Given the description of an element on the screen output the (x, y) to click on. 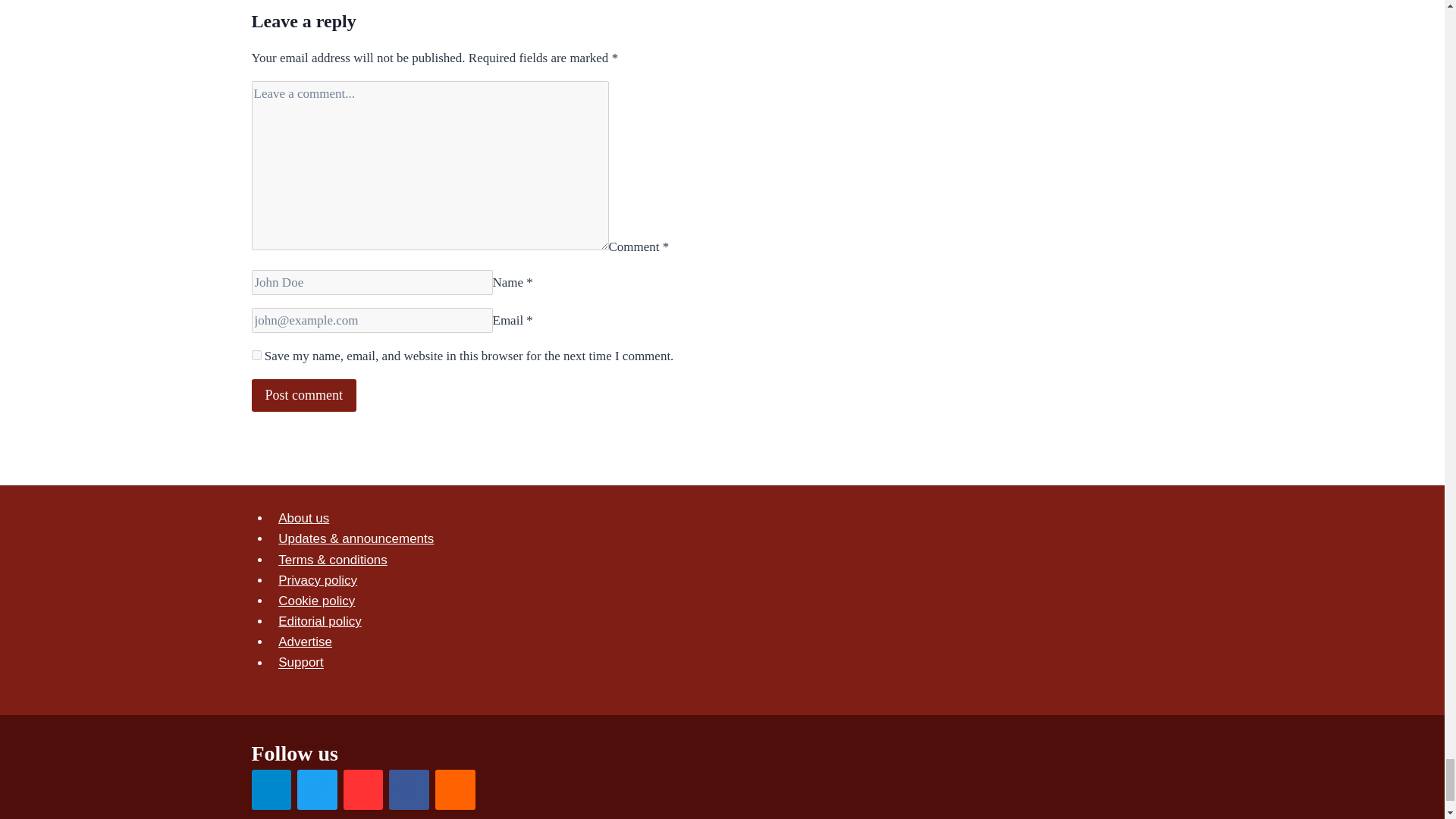
Post comment (303, 395)
yes (256, 355)
